Given the description of an element on the screen output the (x, y) to click on. 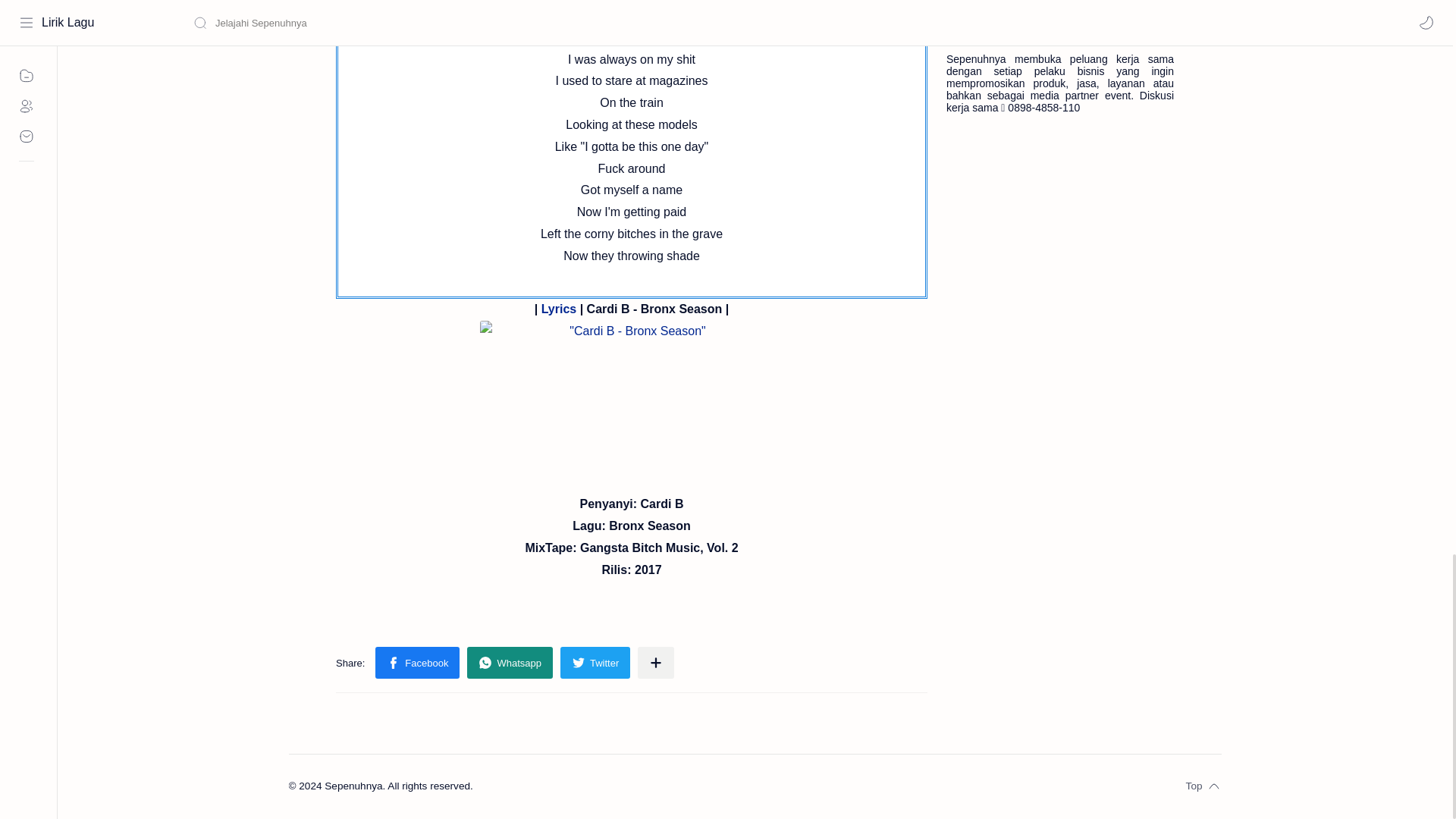
Lyrics (558, 308)
"Cardi B - Bronx Season" (631, 407)
